Given the description of an element on the screen output the (x, y) to click on. 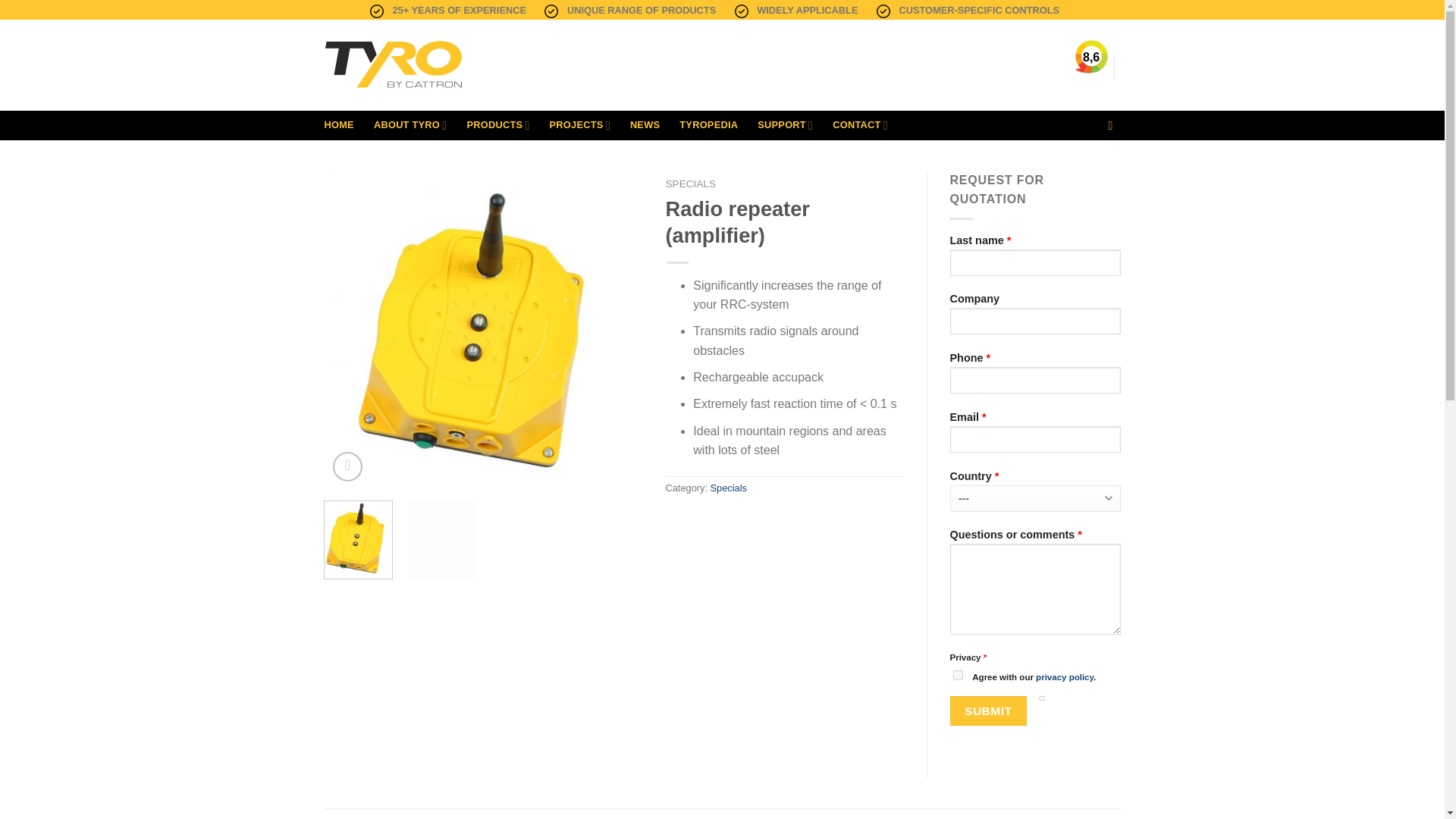
PRODUCTS (497, 125)
PROJECTS (580, 125)
Tyro Remotes (437, 65)
NEWS (644, 124)
SUPPORT (784, 125)
Submit (987, 710)
HOME (338, 124)
8,6 (1091, 56)
ABOUT TYRO (410, 125)
CONTACT (860, 125)
1 (957, 675)
Zoom (347, 466)
TYROPEDIA (708, 124)
